Given the description of an element on the screen output the (x, y) to click on. 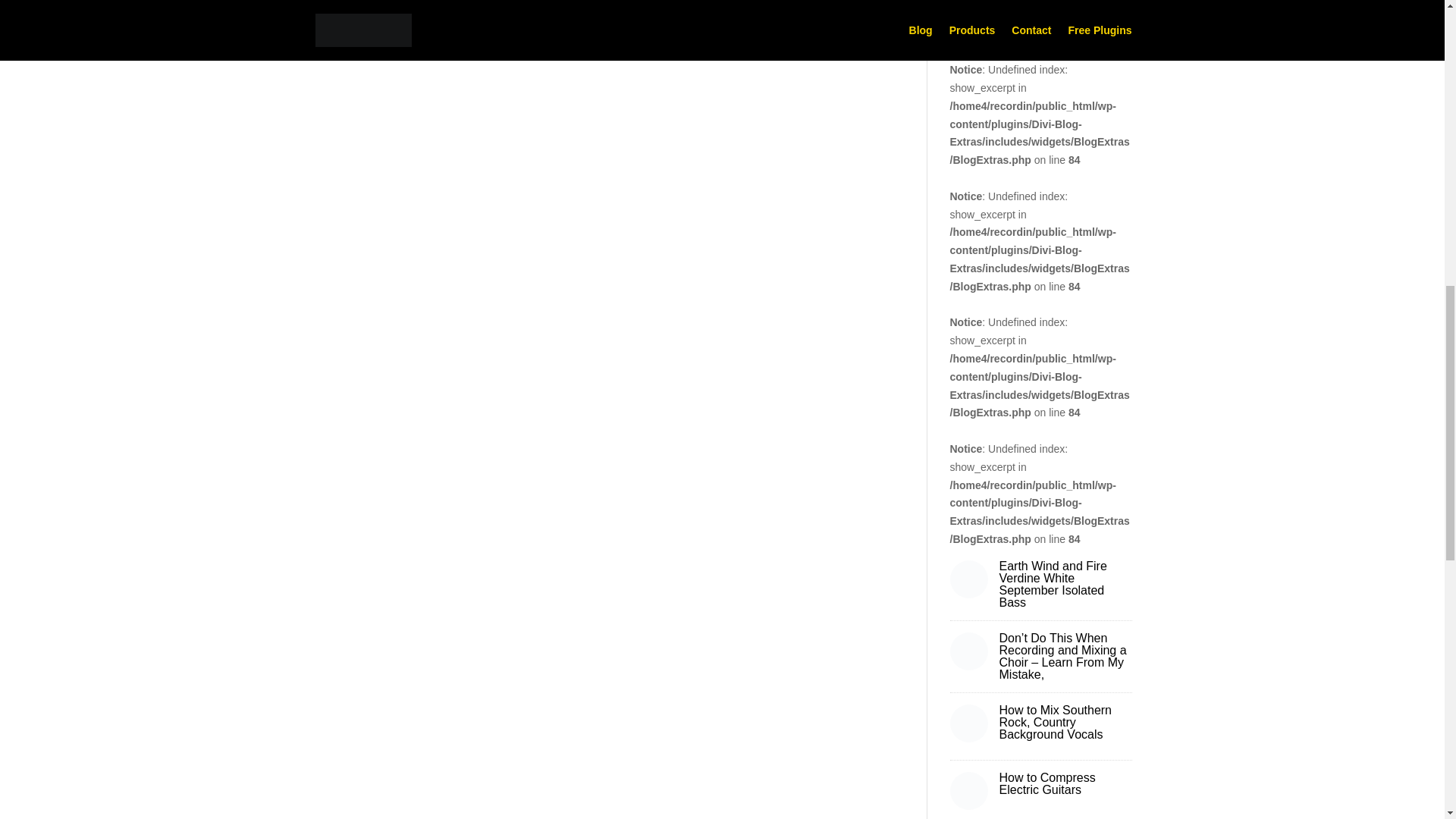
Earth Wind and Fire Verdine White September Isolated Bass (1052, 584)
How to Mix Southern Rock, Country Background Vocals (1055, 722)
How to Compress Electric Guitars (1047, 783)
